Given the description of an element on the screen output the (x, y) to click on. 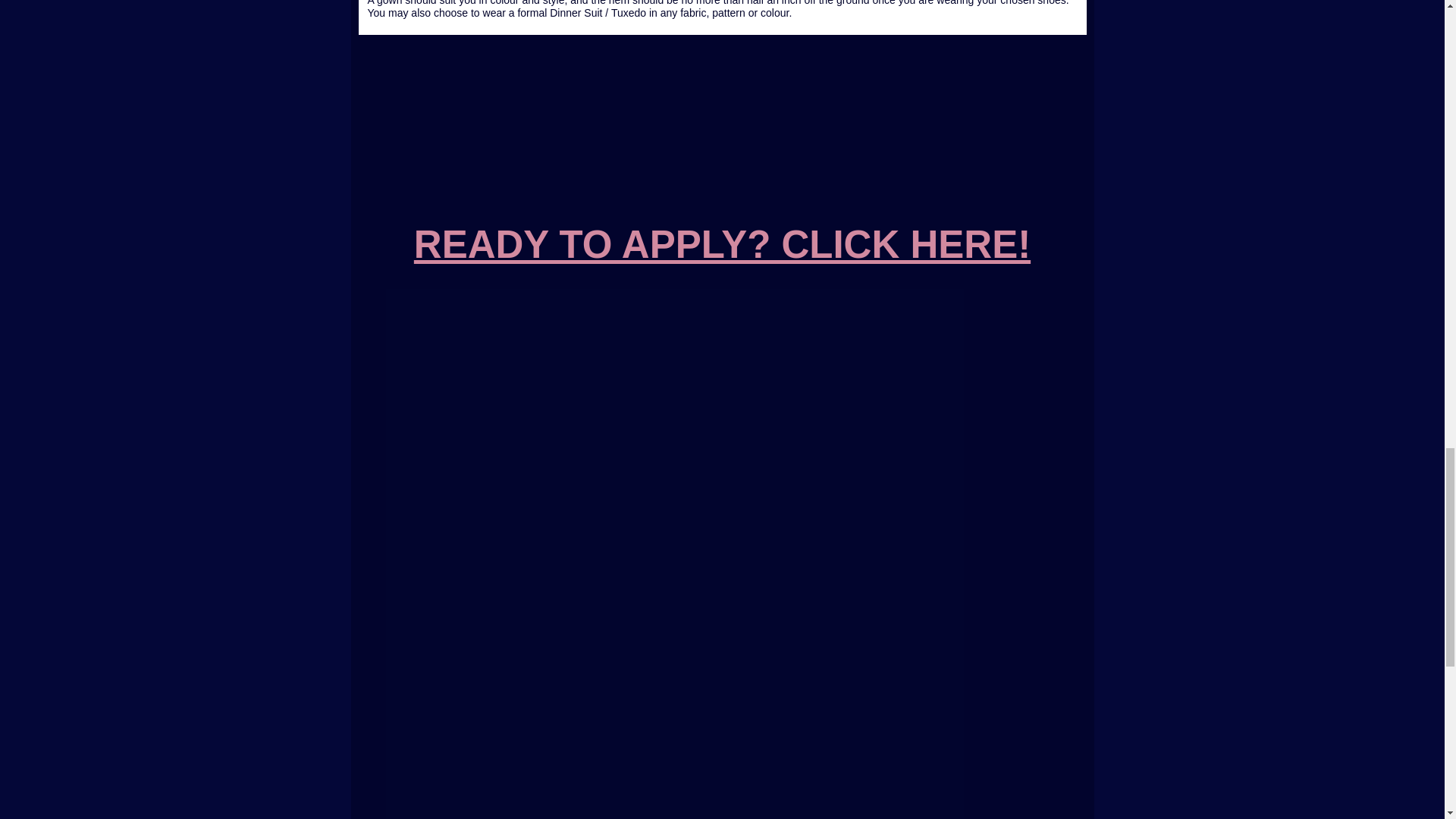
READY TO APPLY? CLICK HERE! (721, 244)
